Given the description of an element on the screen output the (x, y) to click on. 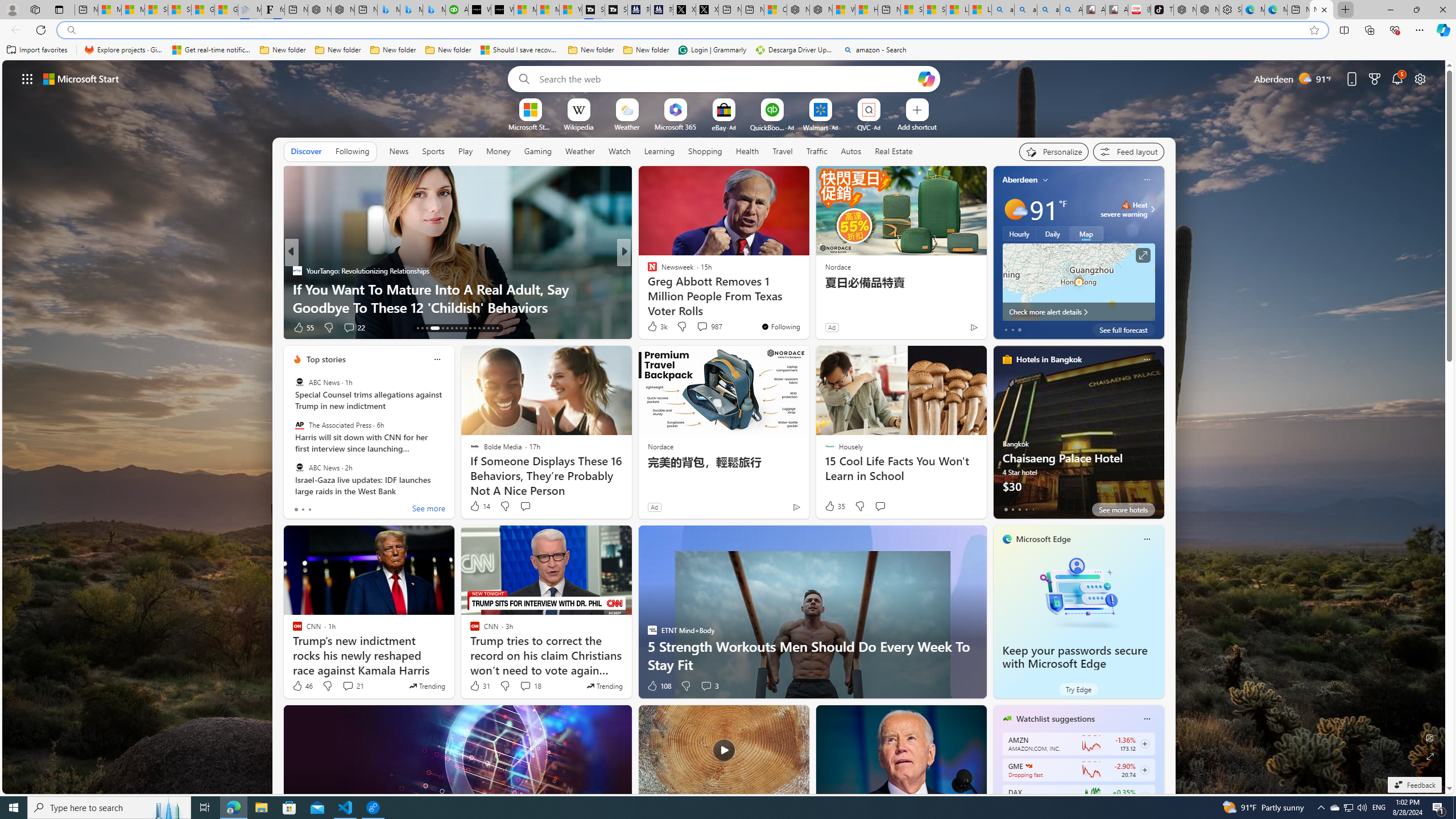
Real Estate (893, 151)
The Associated Press (299, 424)
View comments 987 Comment (708, 326)
View comments 2 Comment (702, 327)
You're following Newsweek (780, 326)
View comments 251 Comment (352, 327)
Larger map  (1077, 282)
Edit Background (1430, 737)
Mostly sunny (1014, 208)
31 Like (479, 685)
Mostly sunny (1014, 208)
View comments 85 Comment (704, 327)
Login | Grammarly (712, 49)
